Given the description of an element on the screen output the (x, y) to click on. 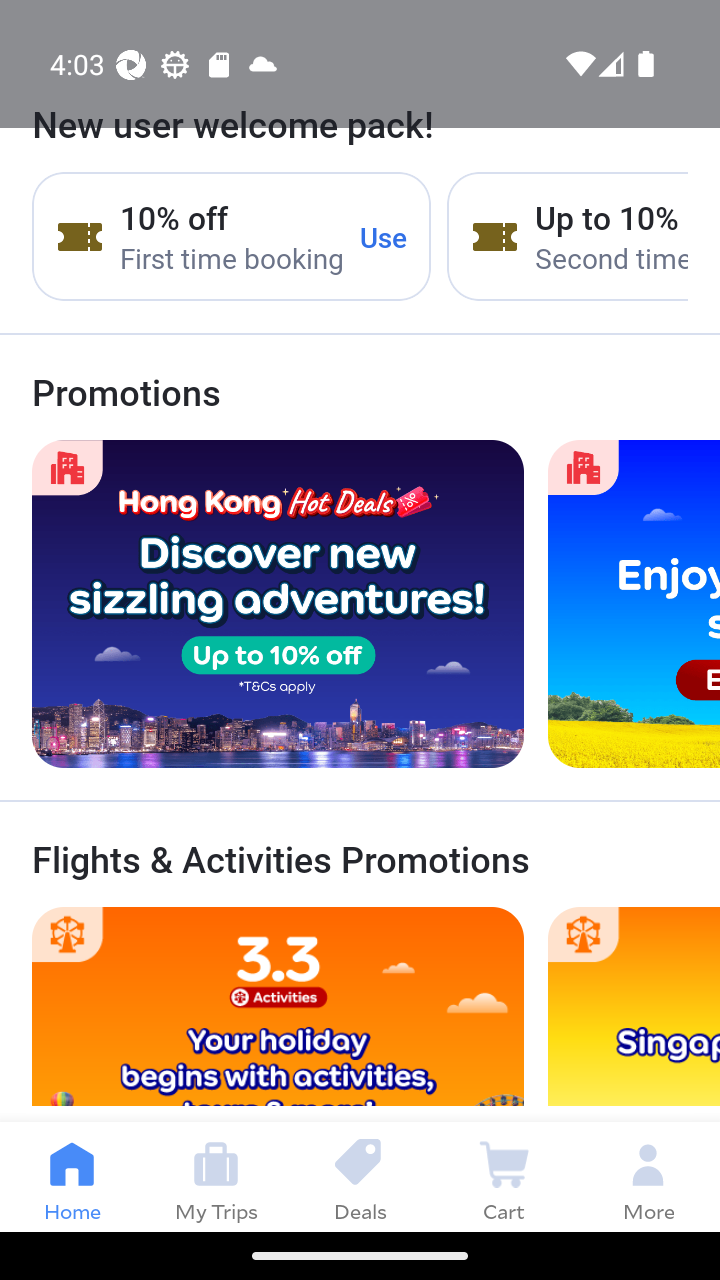
Use (384, 237)
Home (72, 1176)
My Trips (216, 1176)
Deals (360, 1176)
Cart (504, 1176)
More (648, 1176)
